Given the description of an element on the screen output the (x, y) to click on. 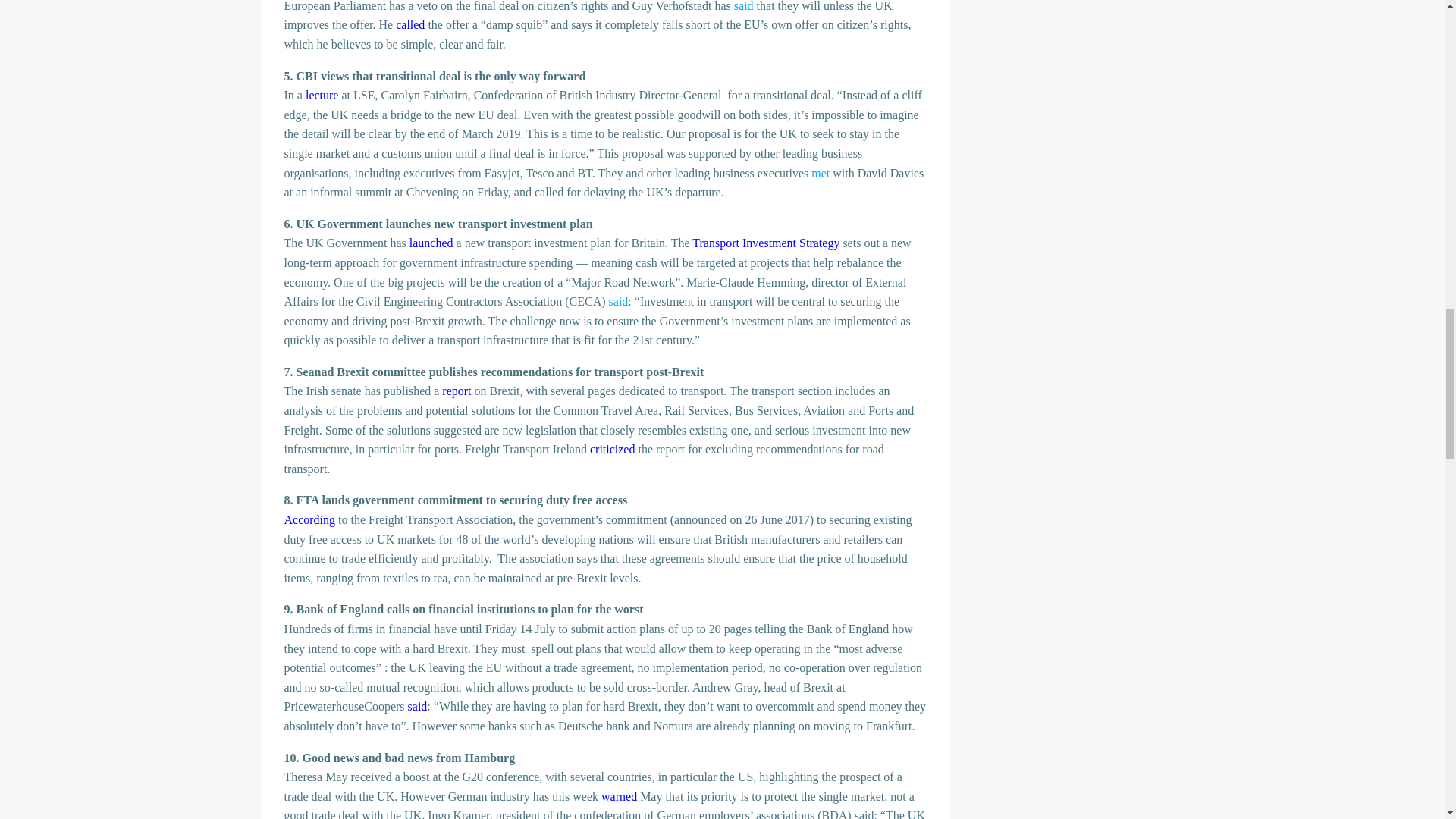
met (819, 173)
said (743, 6)
called (410, 24)
said (618, 300)
lecture (322, 94)
Transport Investment Strategy (766, 242)
According (308, 519)
warned (619, 796)
report (456, 390)
criticized (611, 449)
said (417, 706)
launched (430, 242)
